Given the description of an element on the screen output the (x, y) to click on. 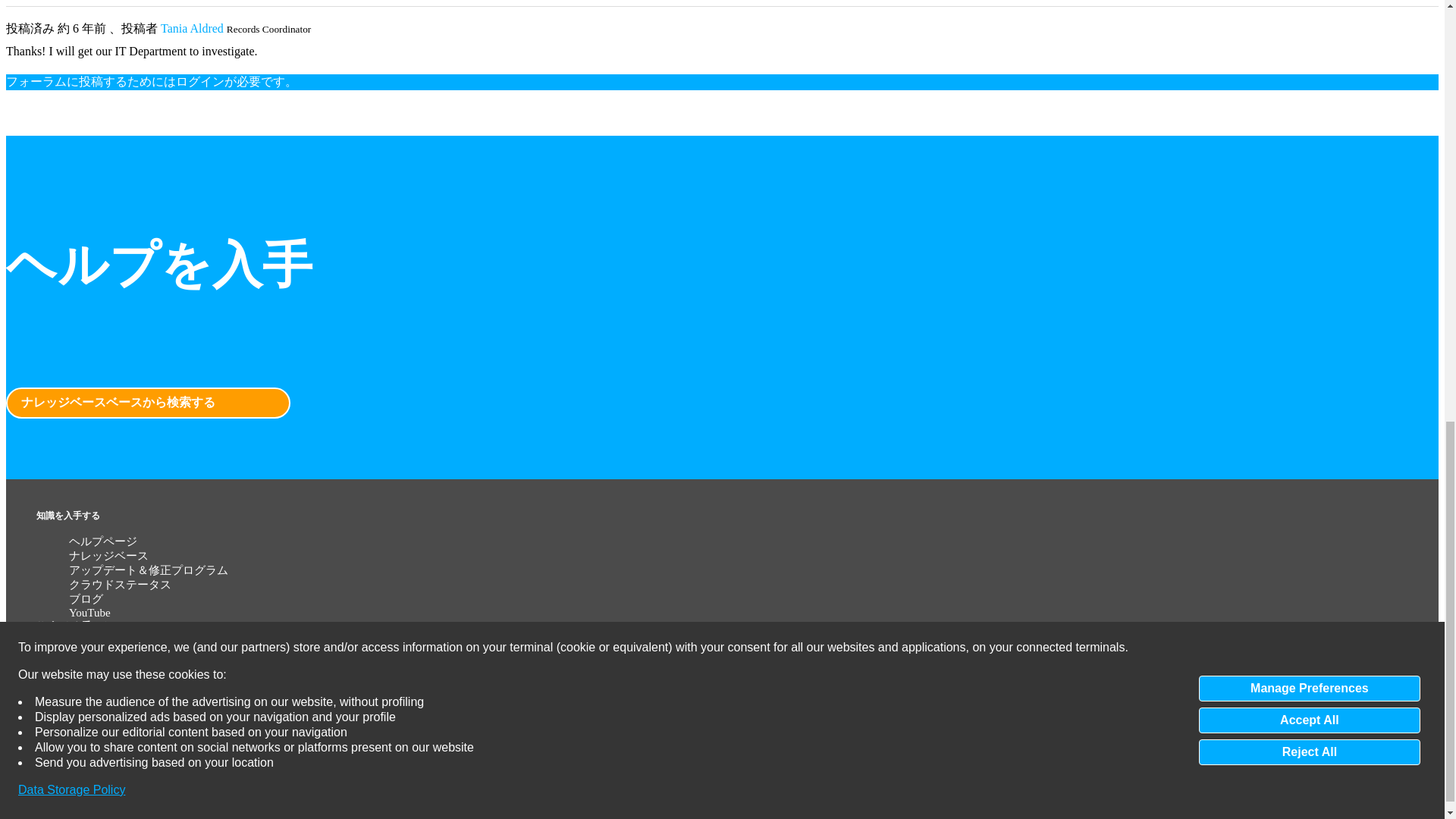
Tania Aldred (192, 28)
